Given the description of an element on the screen output the (x, y) to click on. 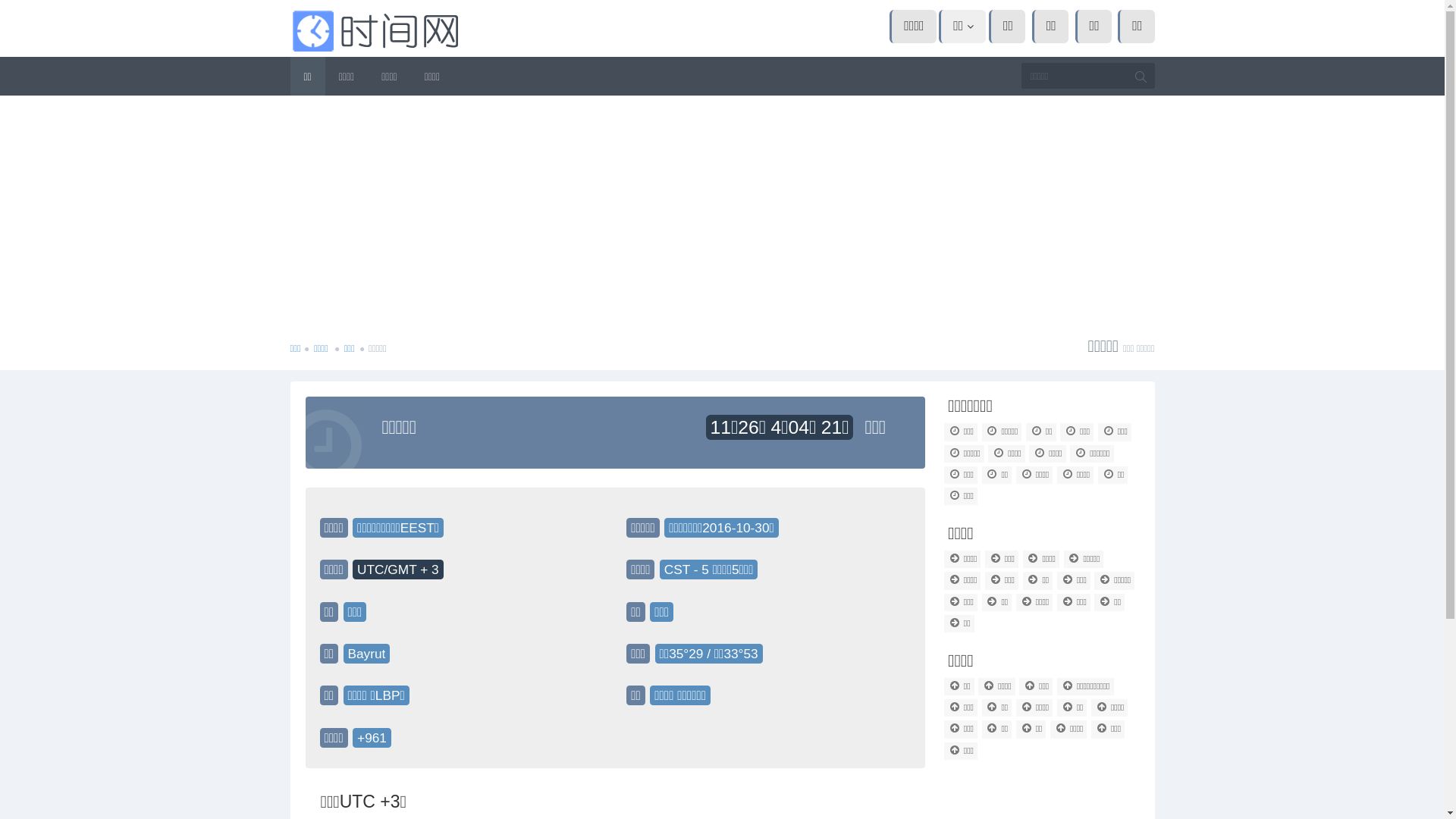
Advertisement Element type: hover (721, 209)
